Given the description of an element on the screen output the (x, y) to click on. 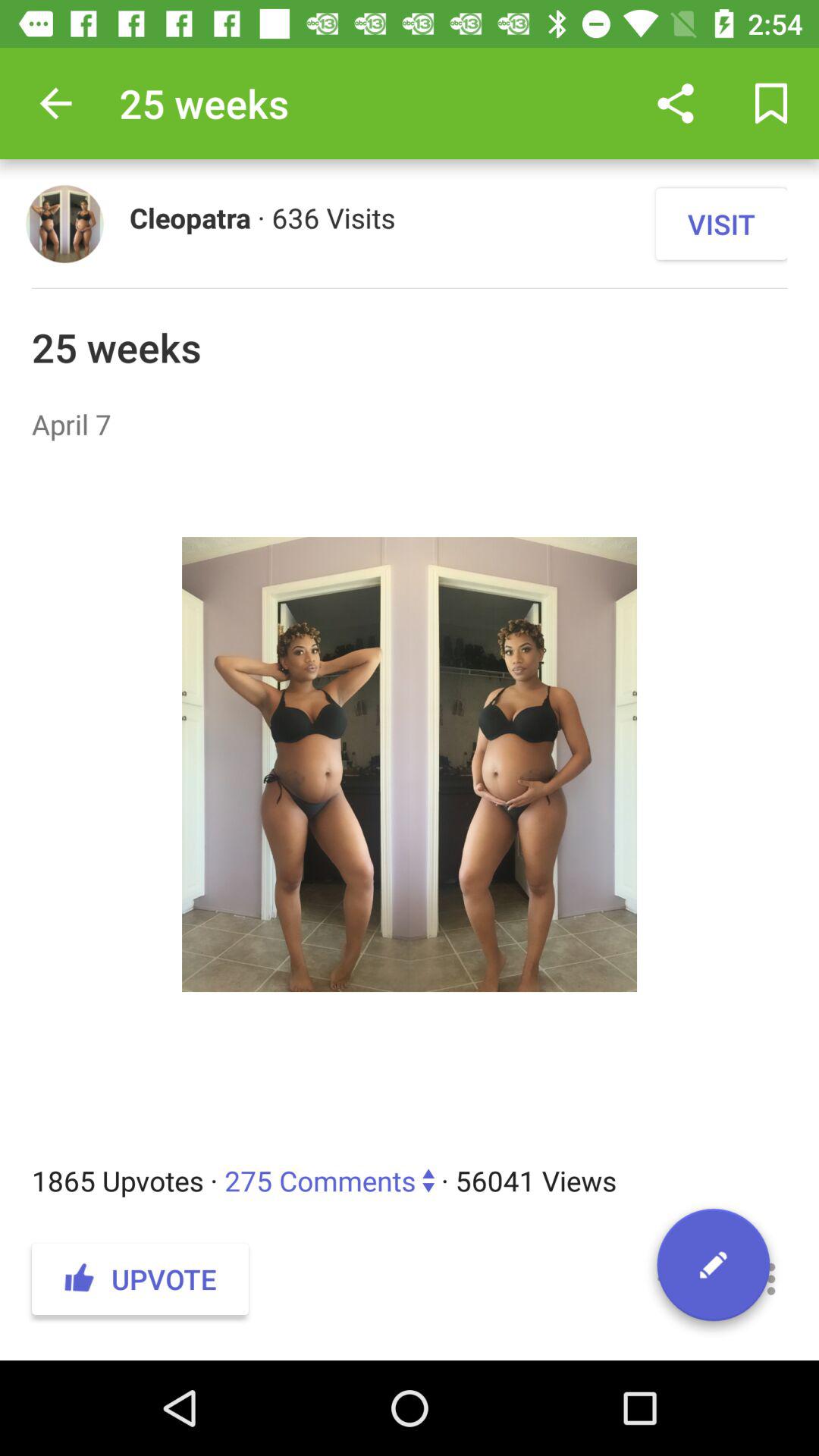
turn on the visit (721, 223)
